Given the description of an element on the screen output the (x, y) to click on. 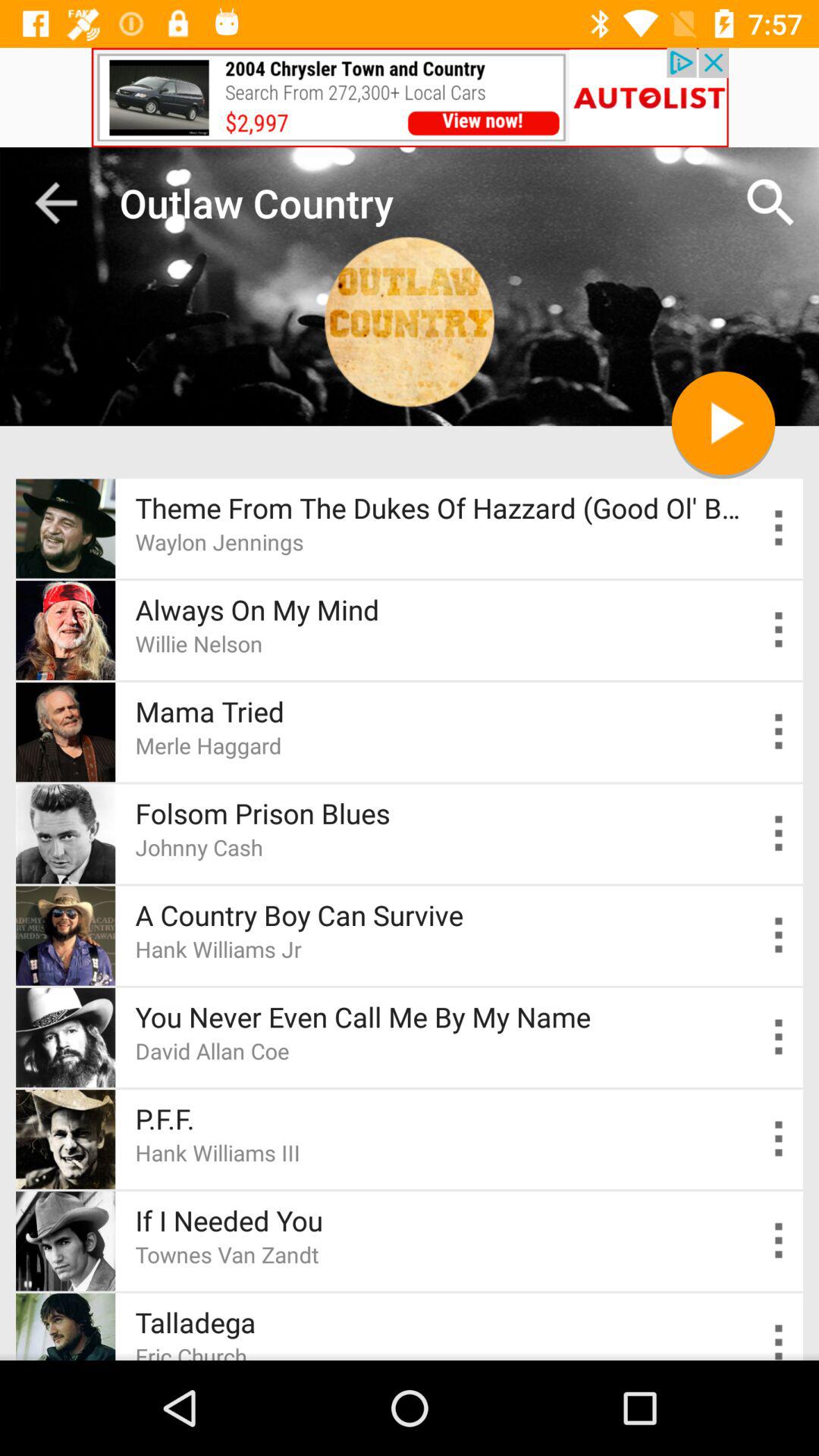
options setting (779, 935)
